Given the description of an element on the screen output the (x, y) to click on. 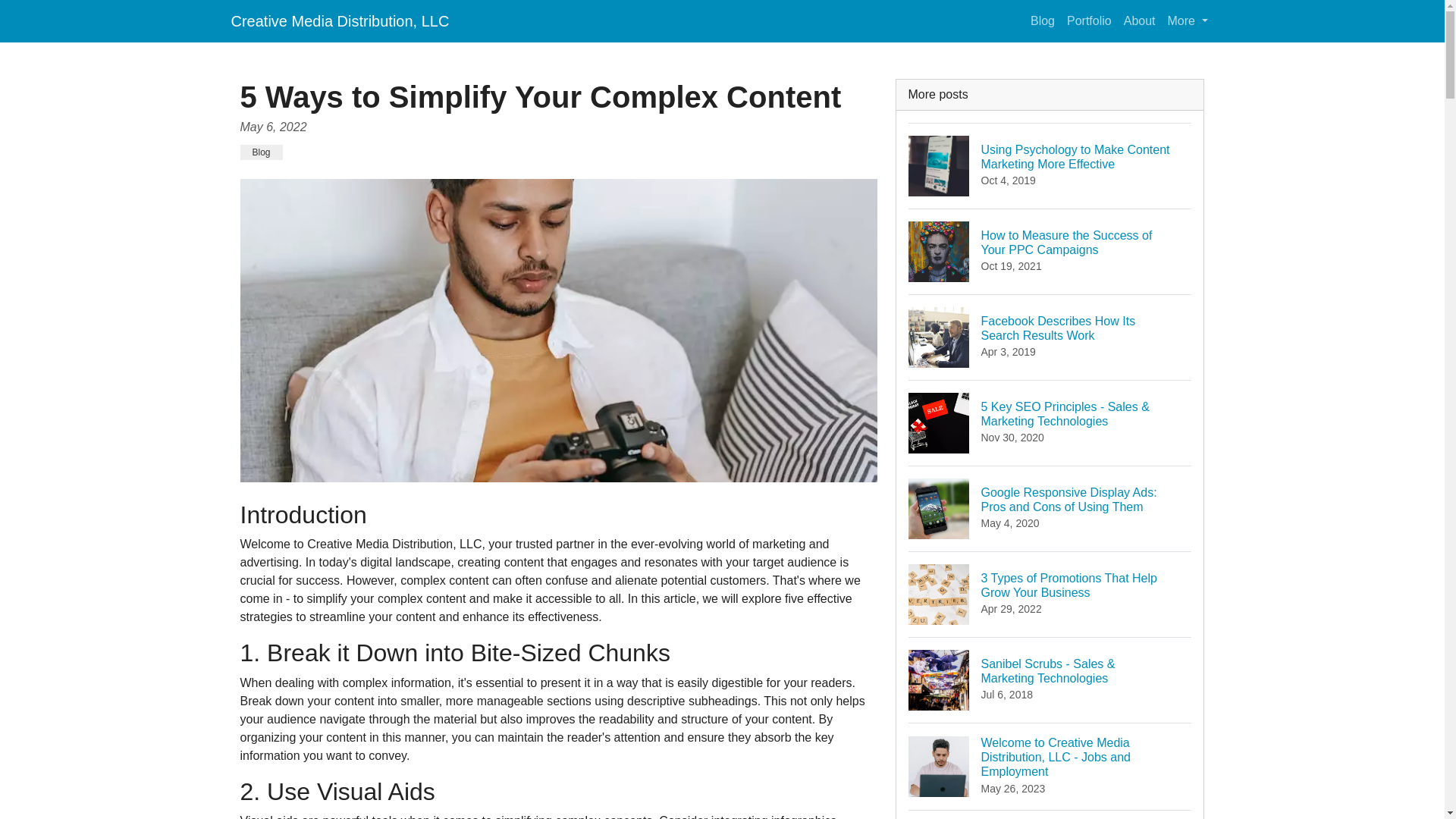
Creative Media Distribution, LLC (339, 20)
Blog (1043, 20)
Blog (1050, 337)
About (261, 151)
